Given the description of an element on the screen output the (x, y) to click on. 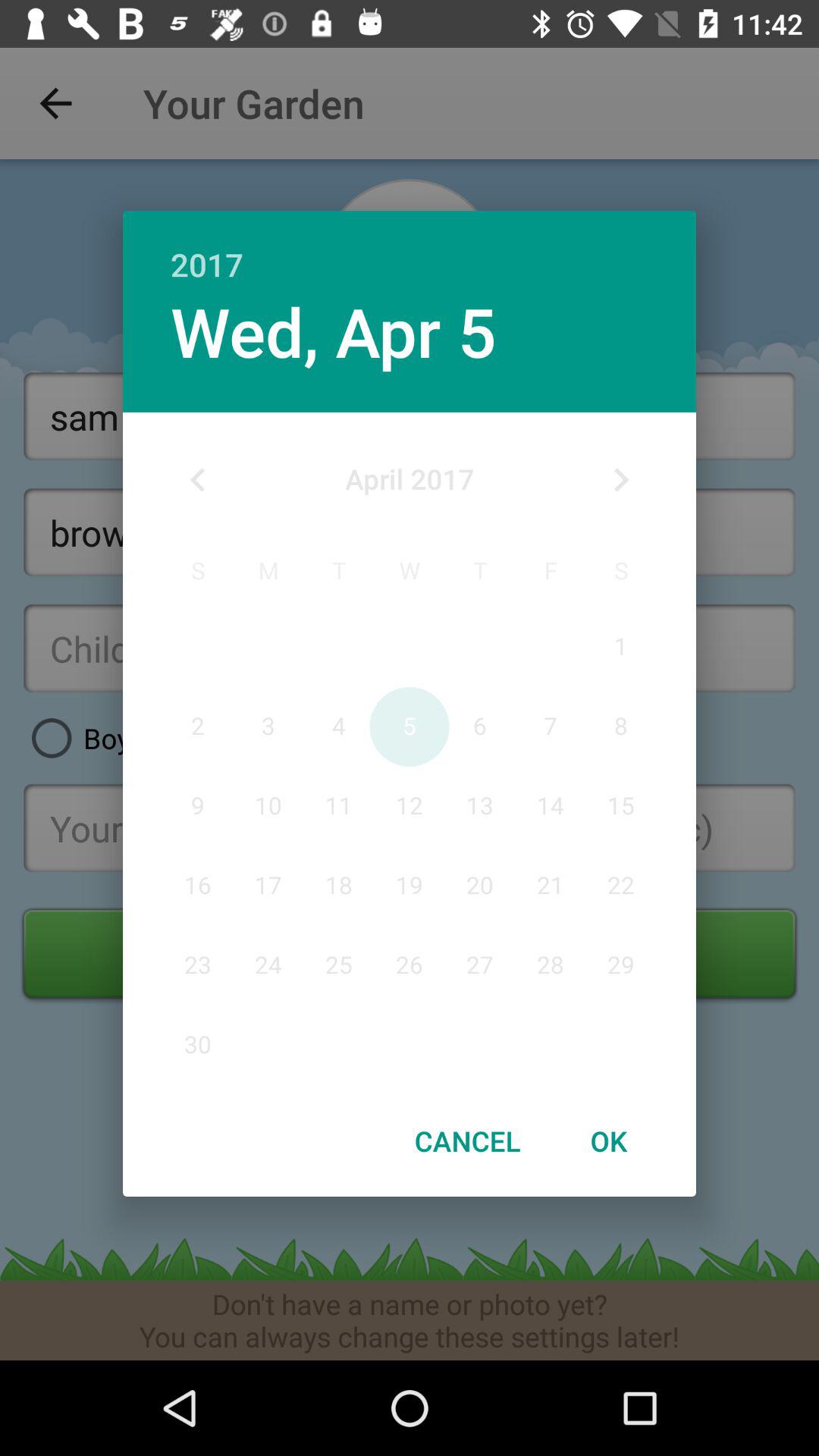
turn on the item next to cancel item (608, 1140)
